Given the description of an element on the screen output the (x, y) to click on. 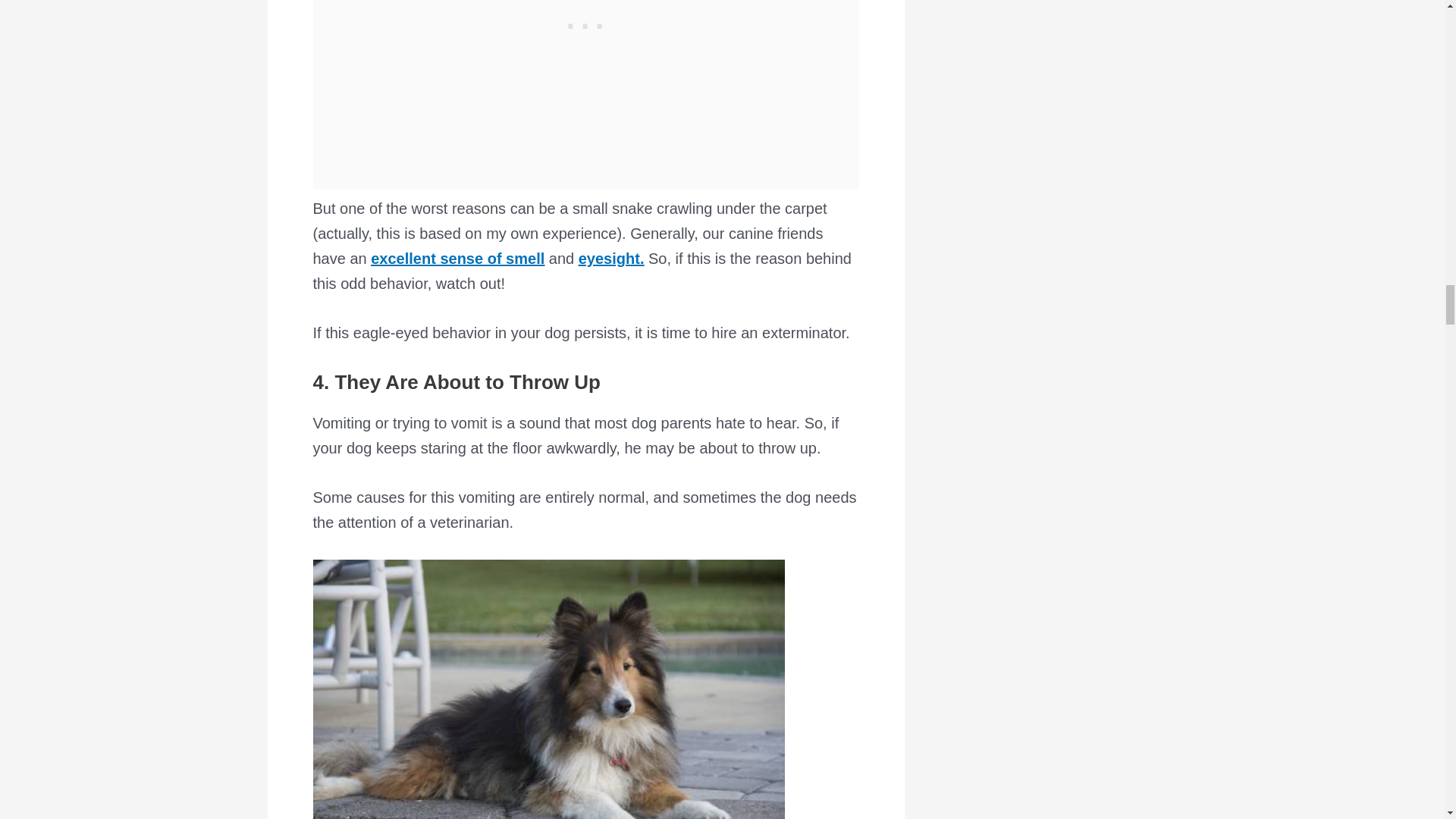
excellent sense of smell (457, 258)
